Given the description of an element on the screen output the (x, y) to click on. 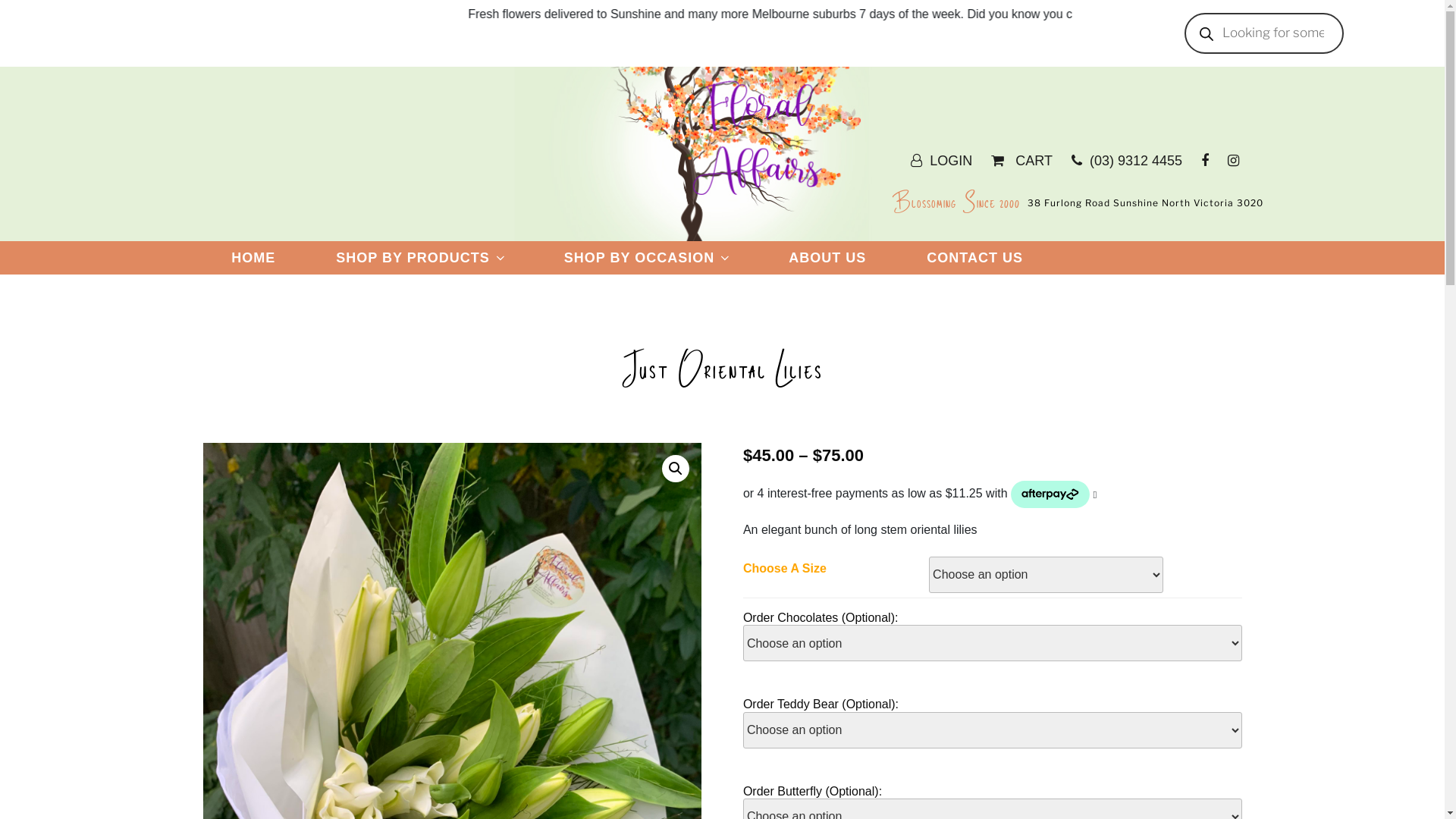
(03) 9312 4455 Element type: text (1135, 160)
ABOUT US Element type: text (826, 257)
LOGIN Element type: text (950, 160)
SHOP BY PRODUCTS Element type: text (419, 257)
HOME Element type: text (253, 257)
CONTACT US Element type: text (974, 257)
CART Element type: text (1031, 160)
SHOP BY OCCASION Element type: text (645, 257)
